Given the description of an element on the screen output the (x, y) to click on. 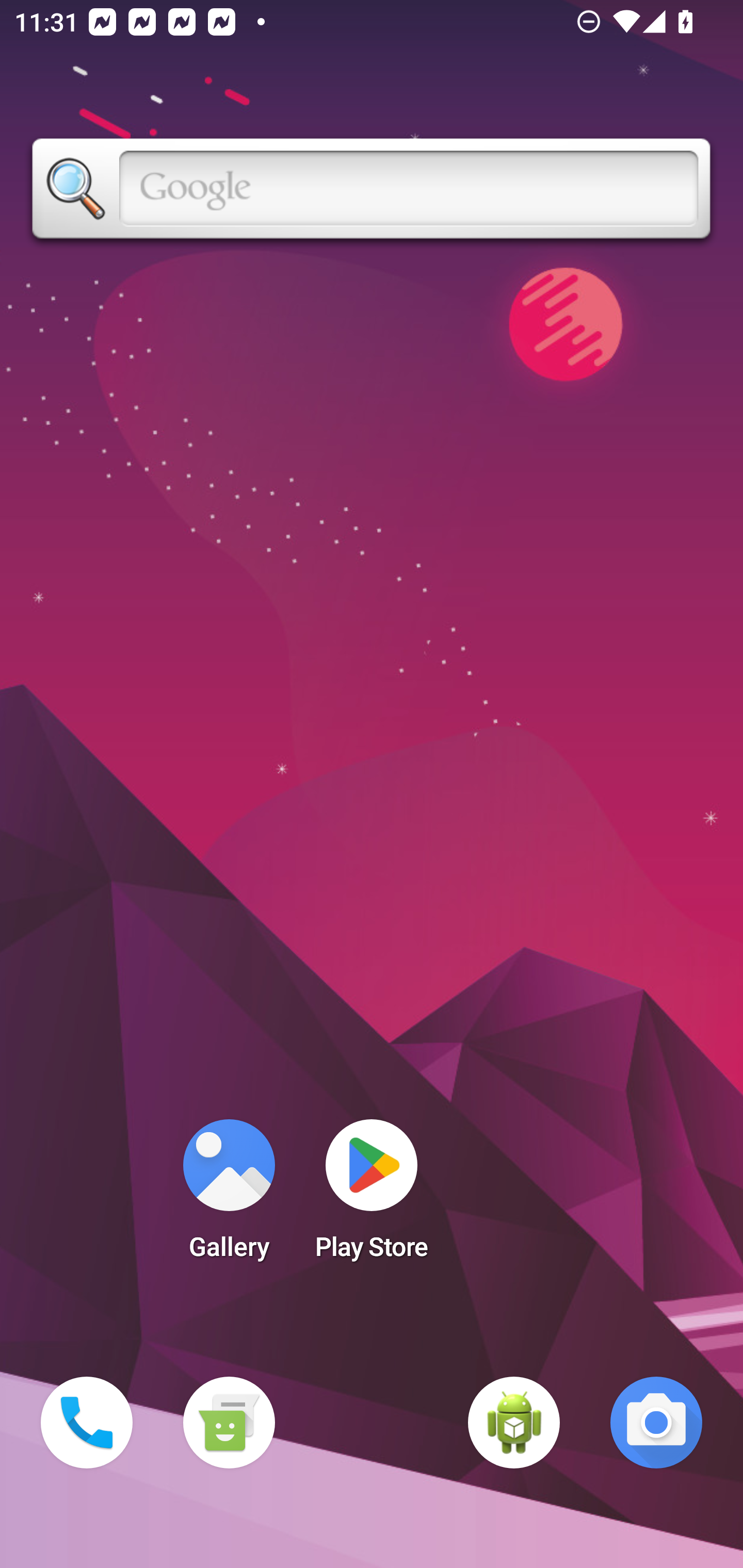
Gallery (228, 1195)
Play Store (371, 1195)
Phone (86, 1422)
Messaging (228, 1422)
WebView Browser Tester (513, 1422)
Camera (656, 1422)
